Given the description of an element on the screen output the (x, y) to click on. 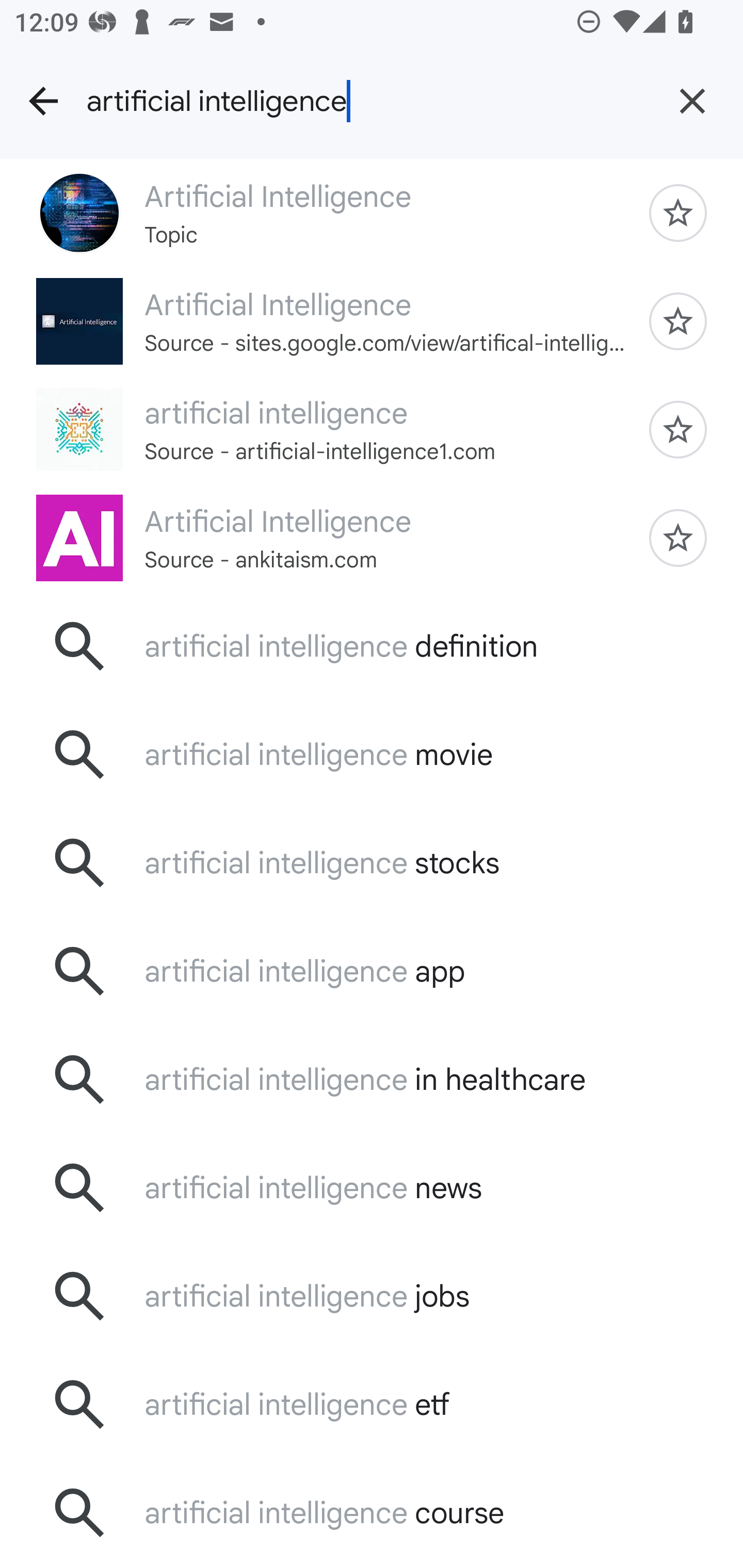
Back (43, 101)
artificial intelligence (363, 101)
Clear text (692, 101)
Artificial Intelligence Topic Follow (371, 212)
Follow (677, 212)
Follow (677, 321)
Follow (677, 429)
Follow (677, 538)
artificial intelligence definition (371, 646)
artificial intelligence movie (371, 754)
artificial intelligence stocks (371, 863)
artificial intelligence app (371, 971)
artificial intelligence in healthcare (371, 1079)
artificial intelligence news (371, 1187)
artificial intelligence jobs (371, 1295)
artificial intelligence etf (371, 1404)
artificial intelligence course (371, 1512)
